Given the description of an element on the screen output the (x, y) to click on. 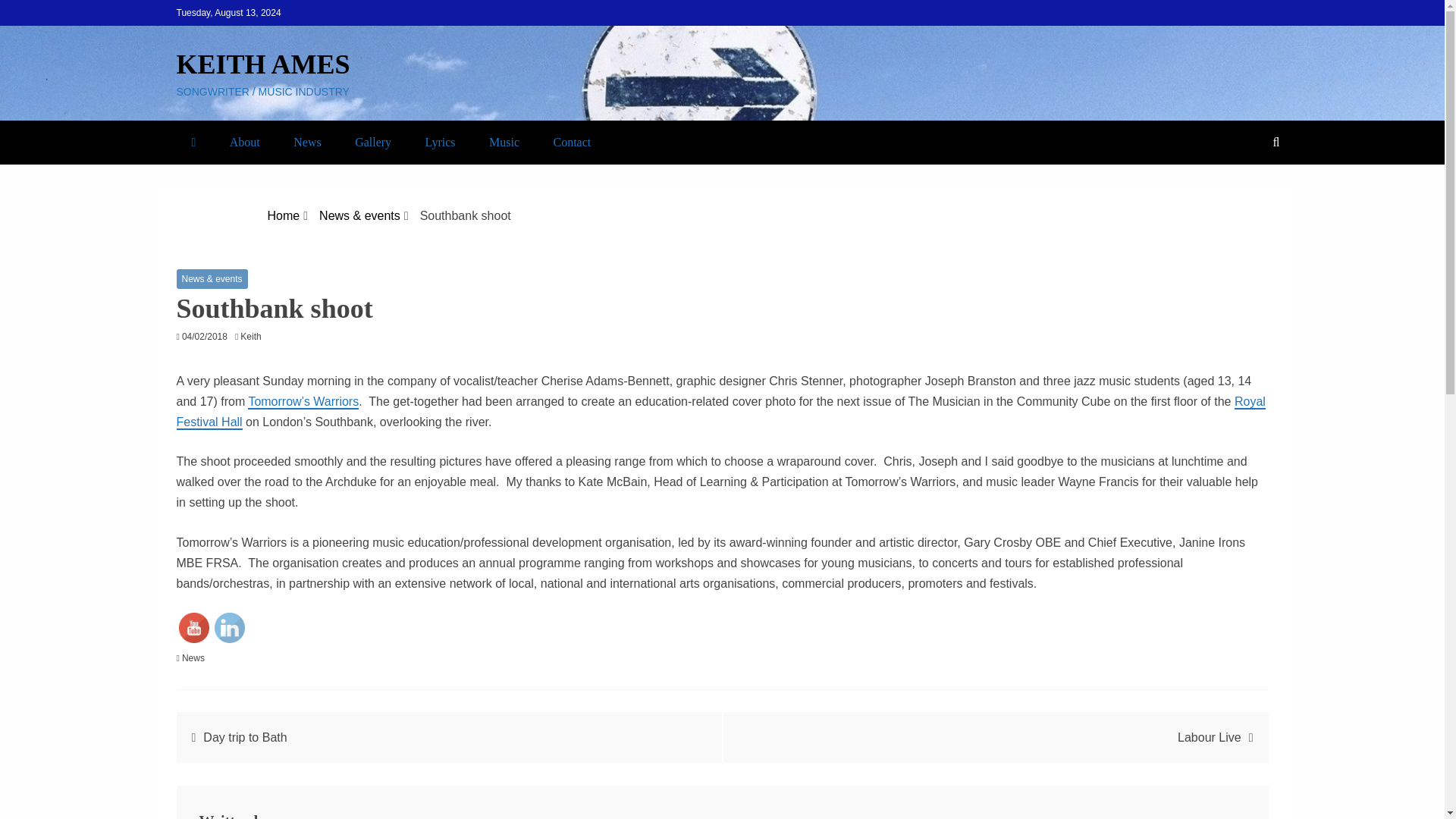
Day trip to Bath (244, 737)
Youtube (194, 627)
Labour Live (1209, 737)
Gallery (372, 141)
Home (283, 215)
Contact (571, 141)
Music (504, 141)
News (193, 657)
Search (31, 13)
Lyrics (440, 141)
